Given the description of an element on the screen output the (x, y) to click on. 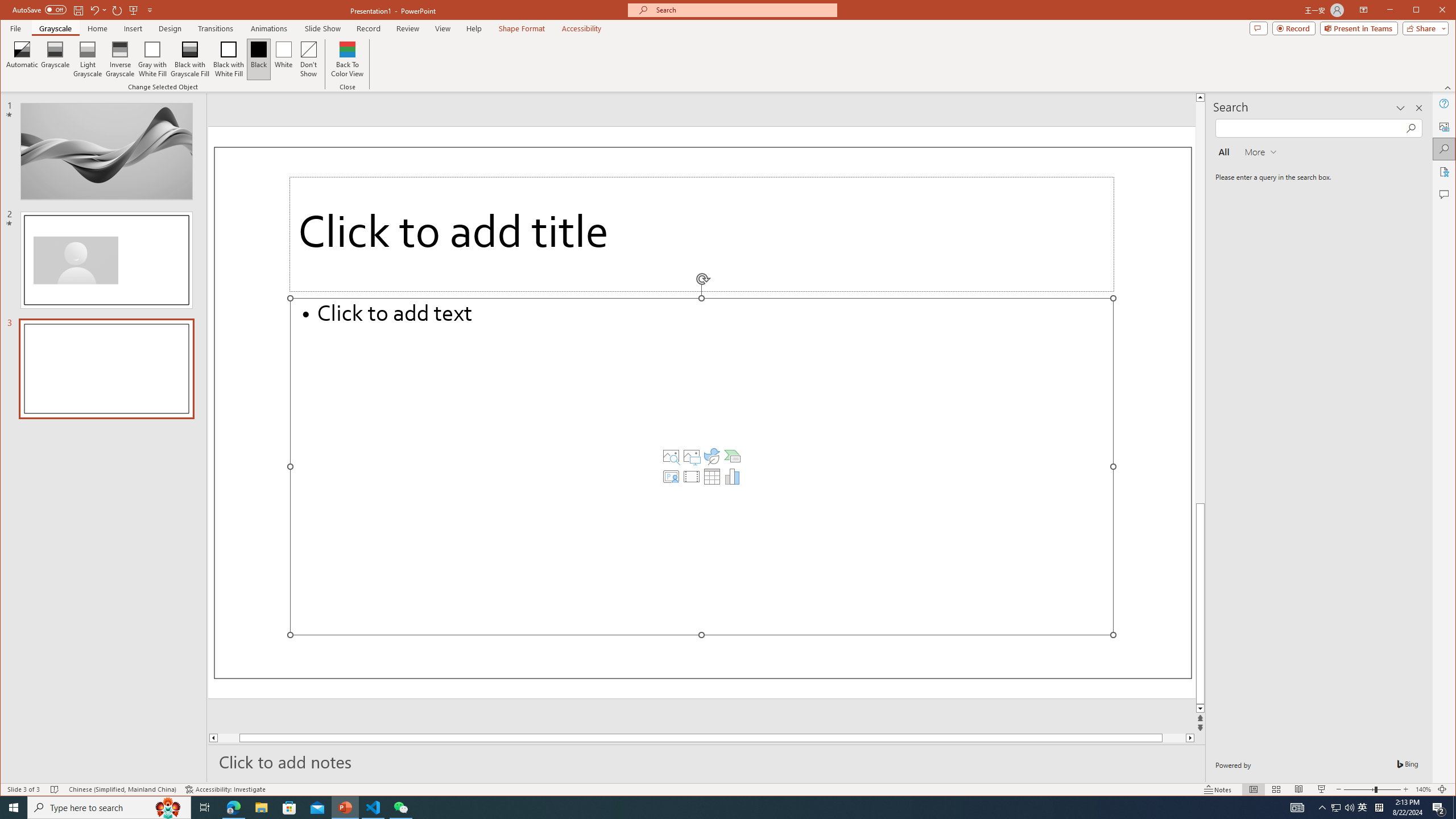
Automatic (22, 59)
Gray with White Fill (152, 59)
Black with Grayscale Fill (189, 59)
Insert Chart (732, 476)
